Given the description of an element on the screen output the (x, y) to click on. 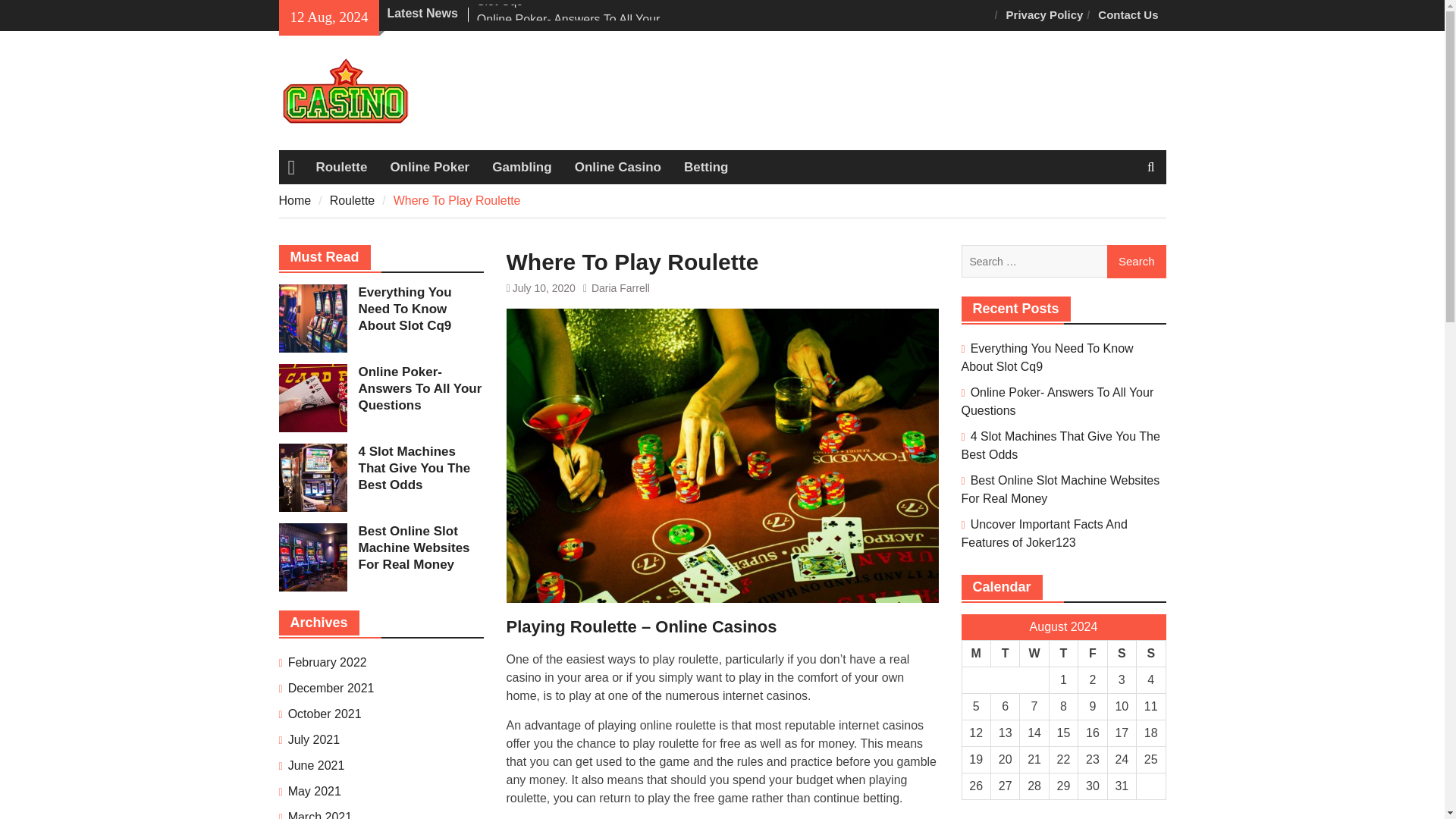
July 10, 2020 (543, 287)
Thursday (1062, 653)
Search (1136, 261)
Online Poker- Answers To All Your Questions (569, 28)
Sunday (1151, 653)
Tuesday (1004, 653)
Roulette (352, 200)
Search (1136, 261)
Friday (1092, 653)
Daria Farrell (620, 287)
